Given the description of an element on the screen output the (x, y) to click on. 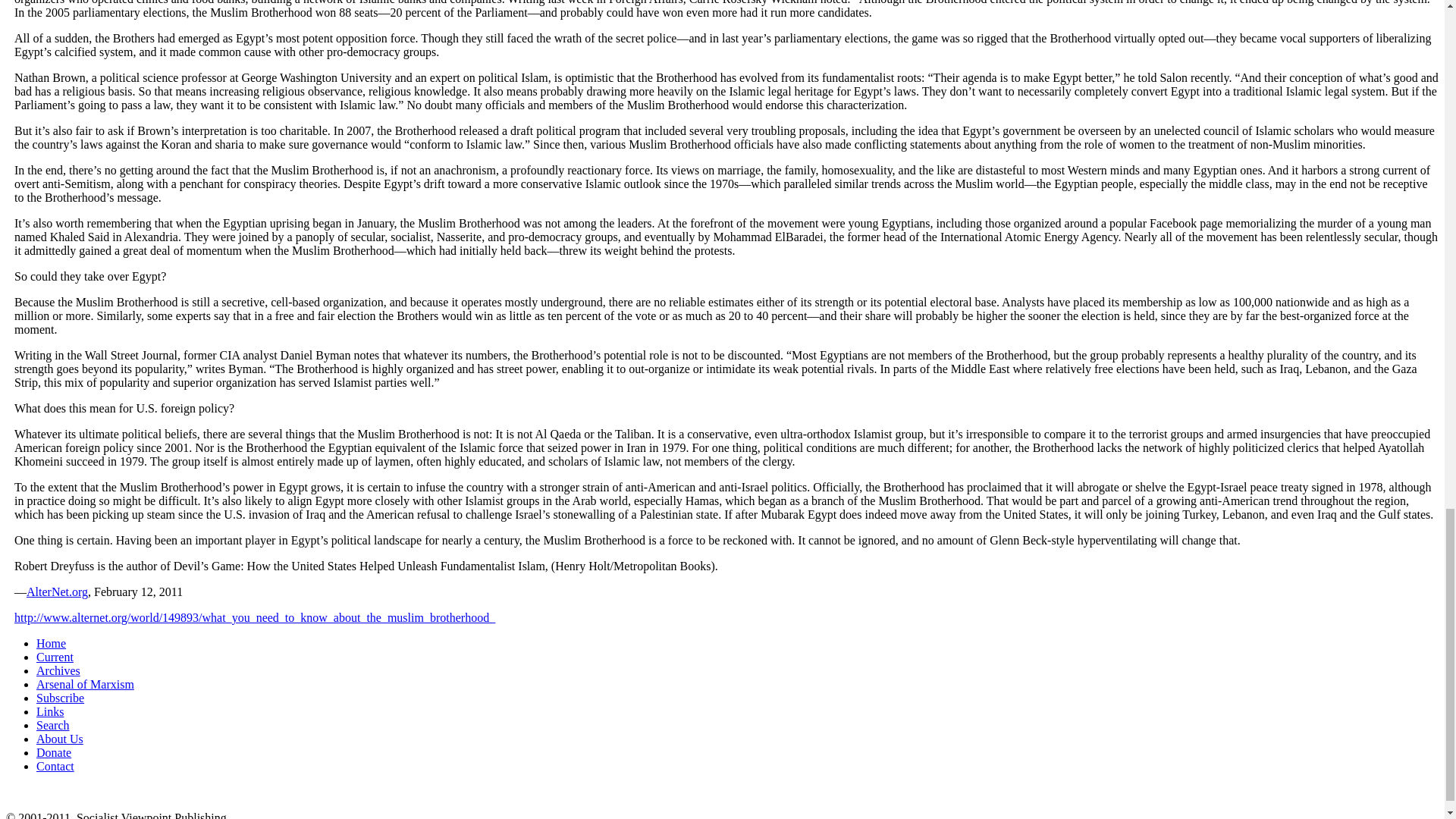
AlterNet.org (56, 591)
Current (55, 656)
Search (52, 725)
Our Favorite Links (50, 711)
Donate (53, 752)
Archives (58, 670)
About Us (59, 738)
Home (50, 643)
Subscribe to Socialist Viewpoint Magazine (60, 697)
Who We Are (59, 738)
Home: Socialist Viewpoint Home Page (50, 643)
Arsenal Of Marxism (84, 684)
Links (50, 711)
Subscribe (60, 697)
Search Socialist Viewpoint (52, 725)
